Given the description of an element on the screen output the (x, y) to click on. 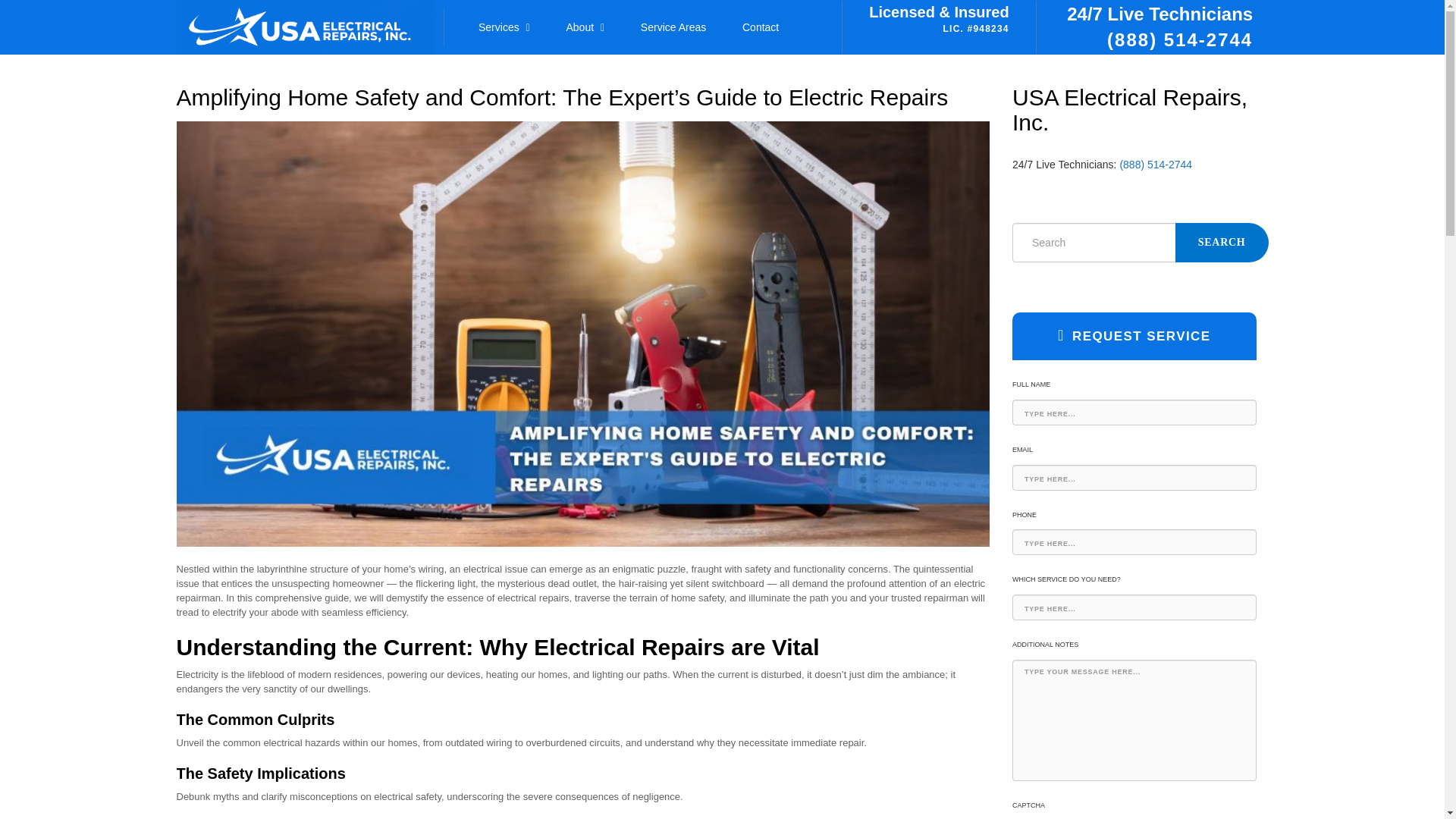
Contact (766, 26)
Service Areas (679, 26)
Services (510, 26)
SEARCH (1221, 242)
About (591, 26)
